Given the description of an element on the screen output the (x, y) to click on. 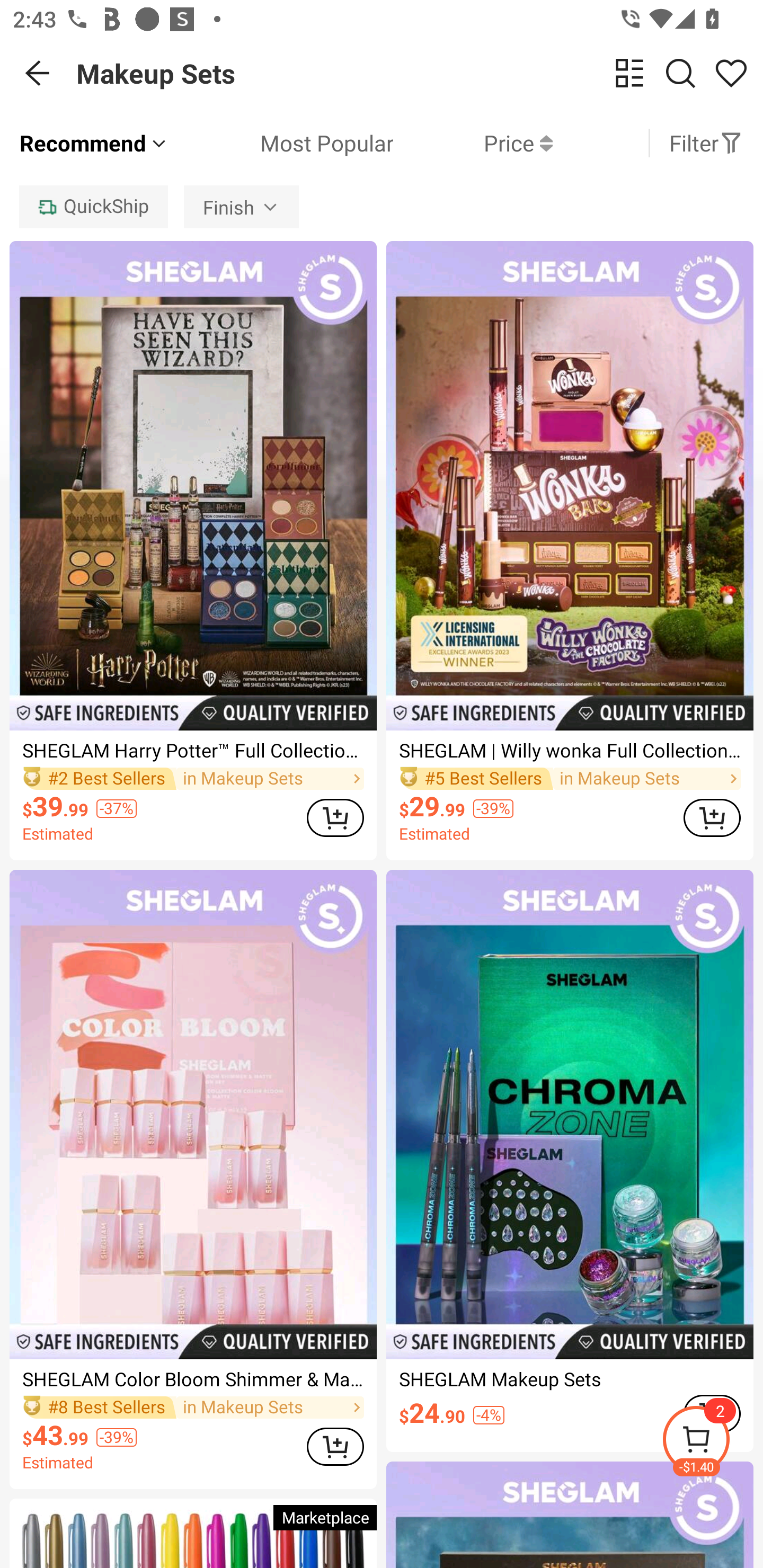
Makeup Sets change view Search Share (419, 72)
change view (629, 72)
Search (679, 72)
Share (730, 72)
Recommend (94, 143)
Most Popular (280, 143)
Price (472, 143)
Filter (705, 143)
QuickShip (93, 206)
Finish (241, 206)
#2 Best Sellers in Makeup Sets (192, 778)
#5 Best Sellers in Makeup Sets (569, 778)
ADD TO CART (334, 817)
ADD TO CART (711, 817)
#8 Best Sellers in Makeup Sets (192, 1407)
-$1.40 (712, 1441)
ADD TO CART (334, 1446)
